Given the description of an element on the screen output the (x, y) to click on. 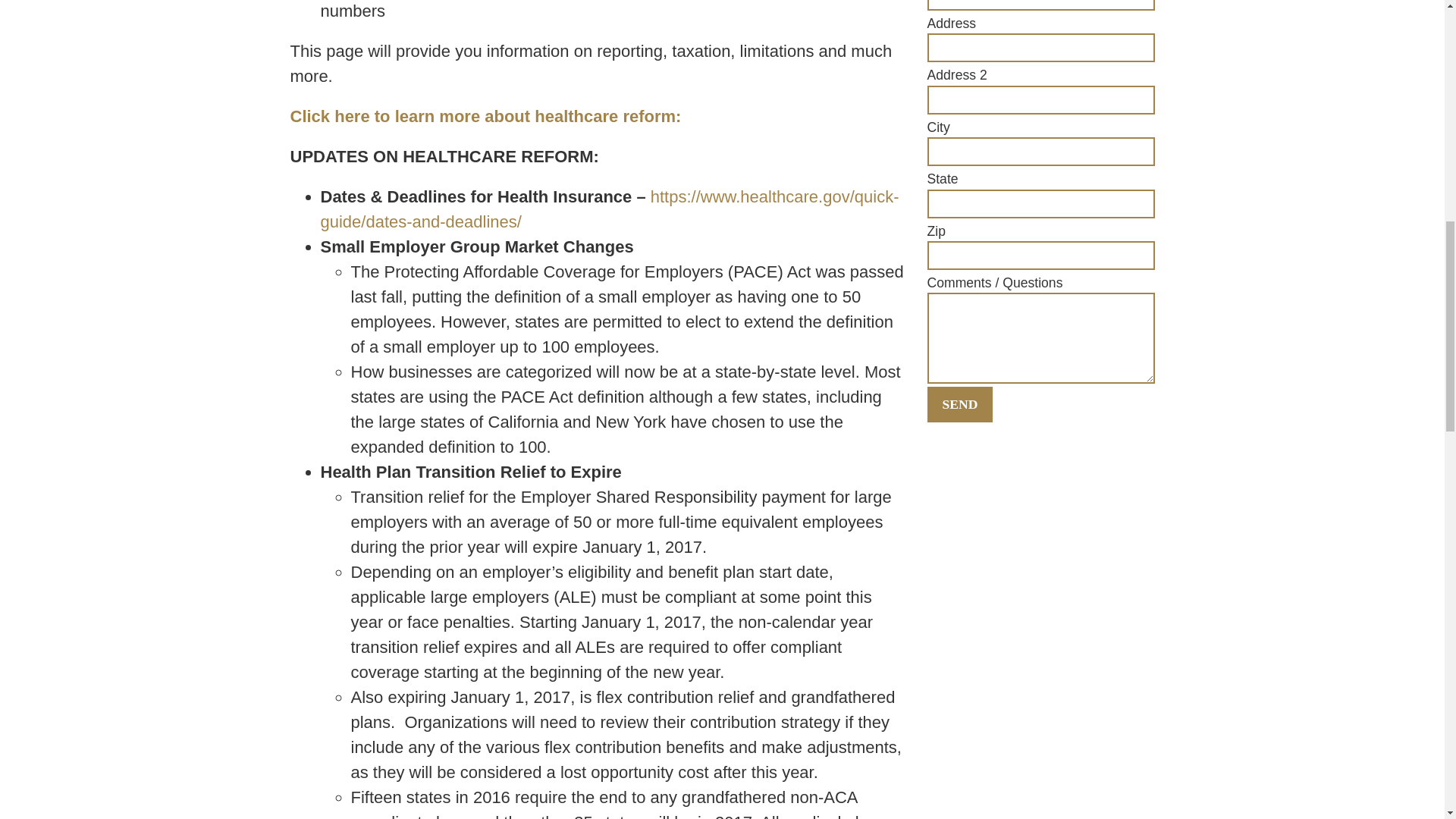
Send (959, 403)
Click here to learn more about healthcare reform: (485, 116)
Send (959, 403)
